Given the description of an element on the screen output the (x, y) to click on. 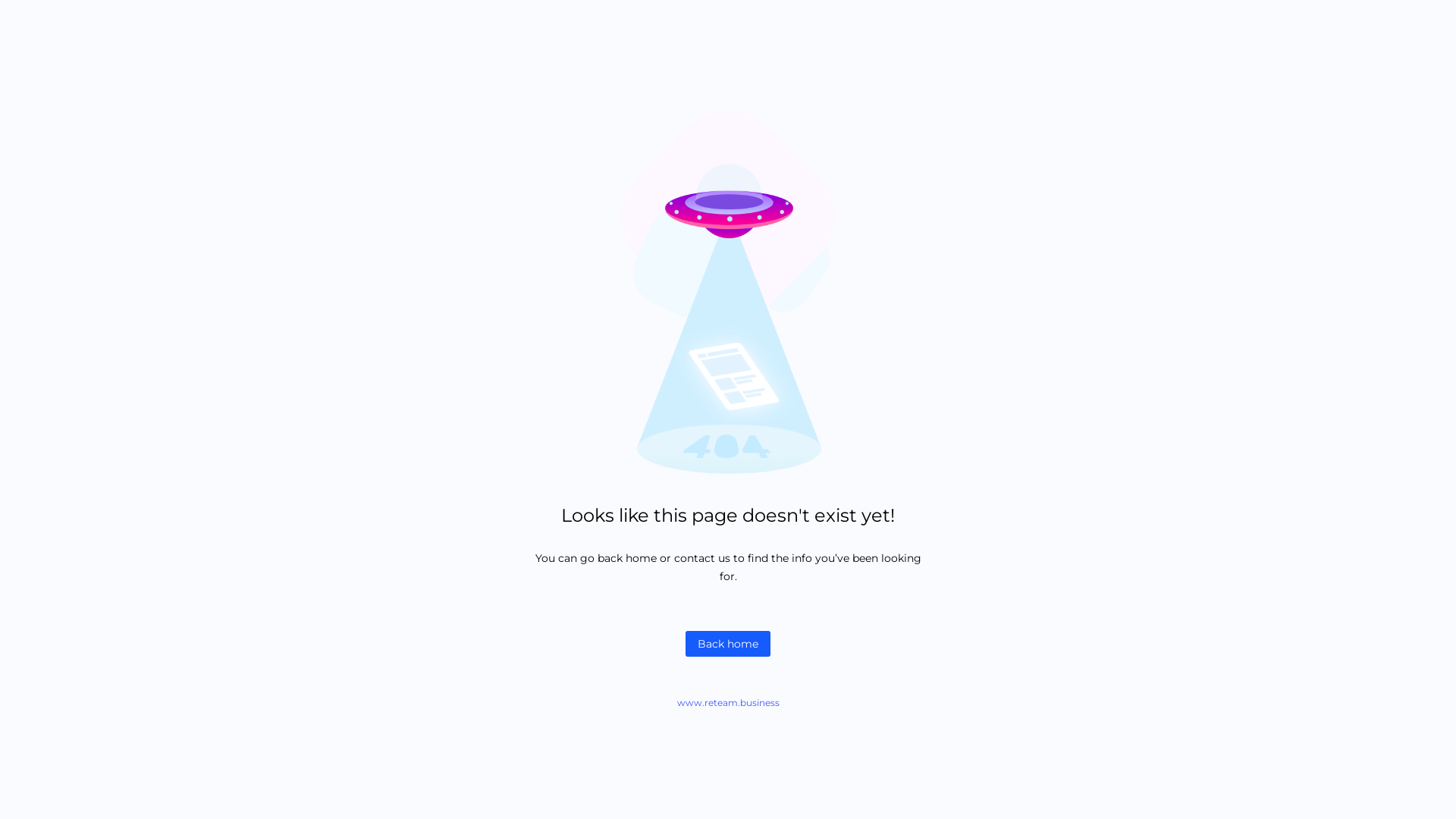
www.reteam.business Element type: text (727, 702)
Back home Element type: text (727, 643)
